Given the description of an element on the screen output the (x, y) to click on. 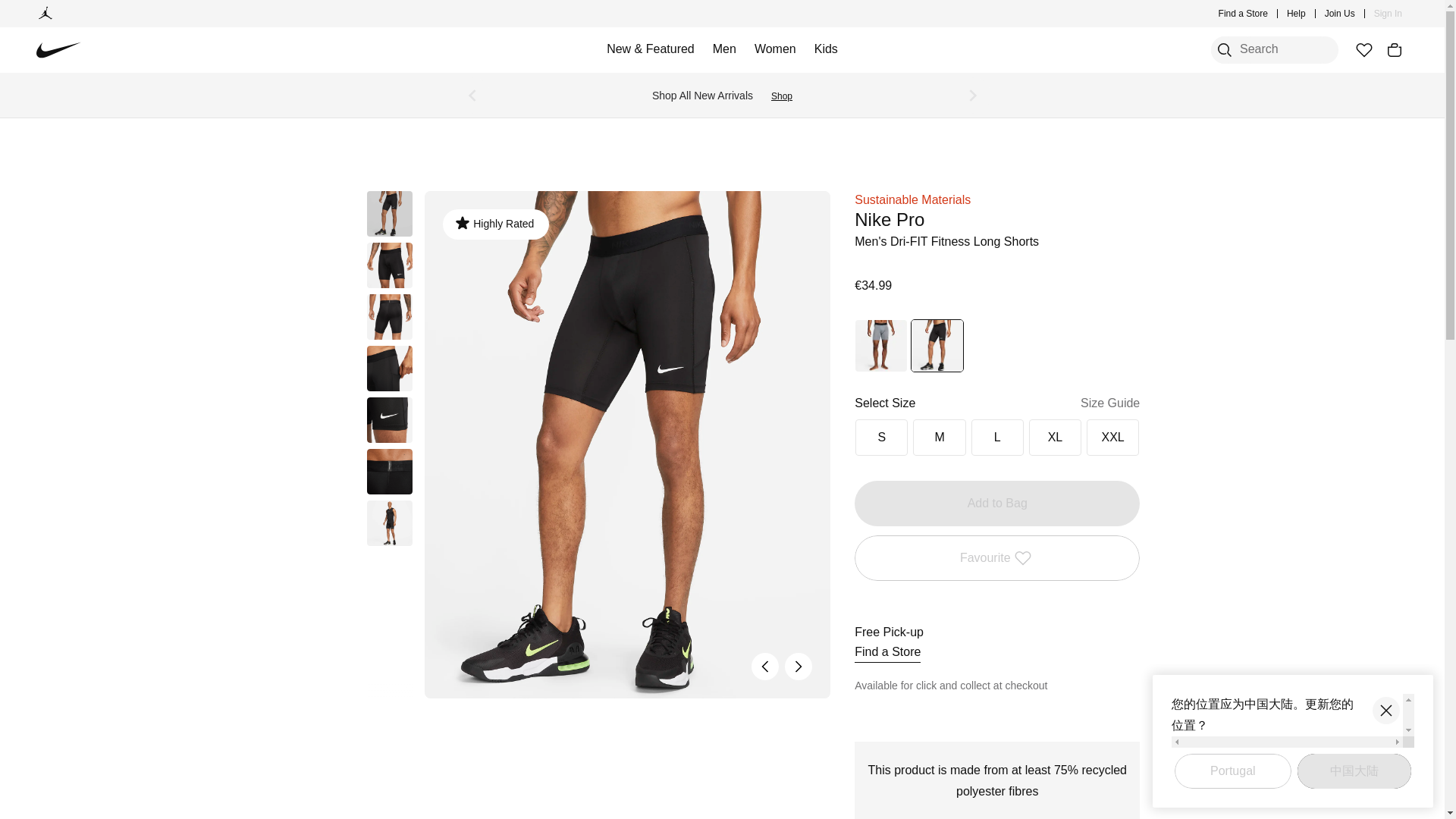
Help (1296, 13)
Sign In (1388, 13)
Favourites (1364, 49)
Find a Store (1243, 13)
Join Us (1339, 13)
Bag Items: 0 (1393, 49)
